Given the description of an element on the screen output the (x, y) to click on. 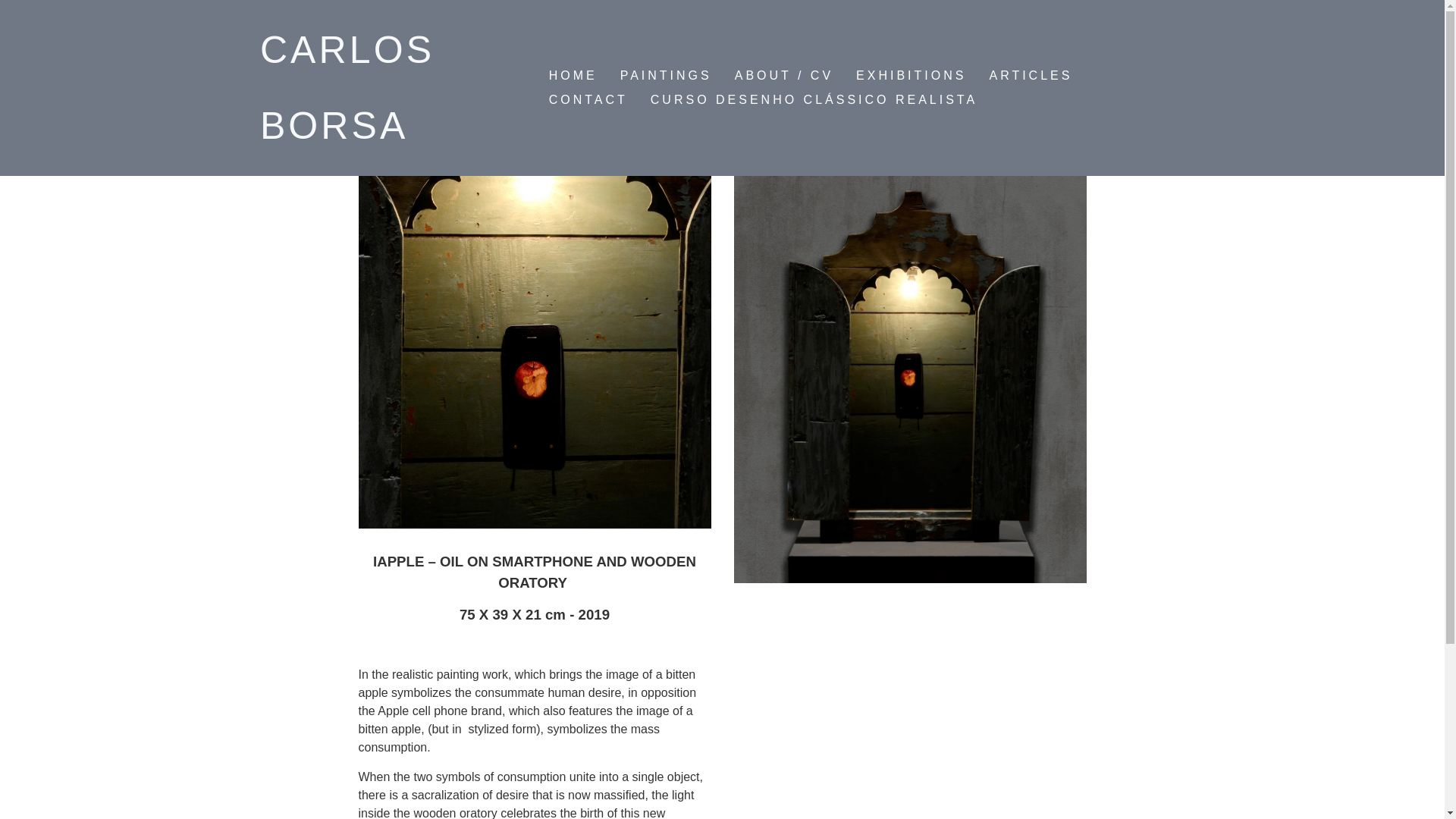
EXHIBITIONS (910, 75)
CONTACT (588, 99)
ARTICLES (1029, 75)
Inicial (346, 87)
PAINTINGS (665, 75)
HOME (572, 75)
CARLOS BORSA (346, 87)
